Given the description of an element on the screen output the (x, y) to click on. 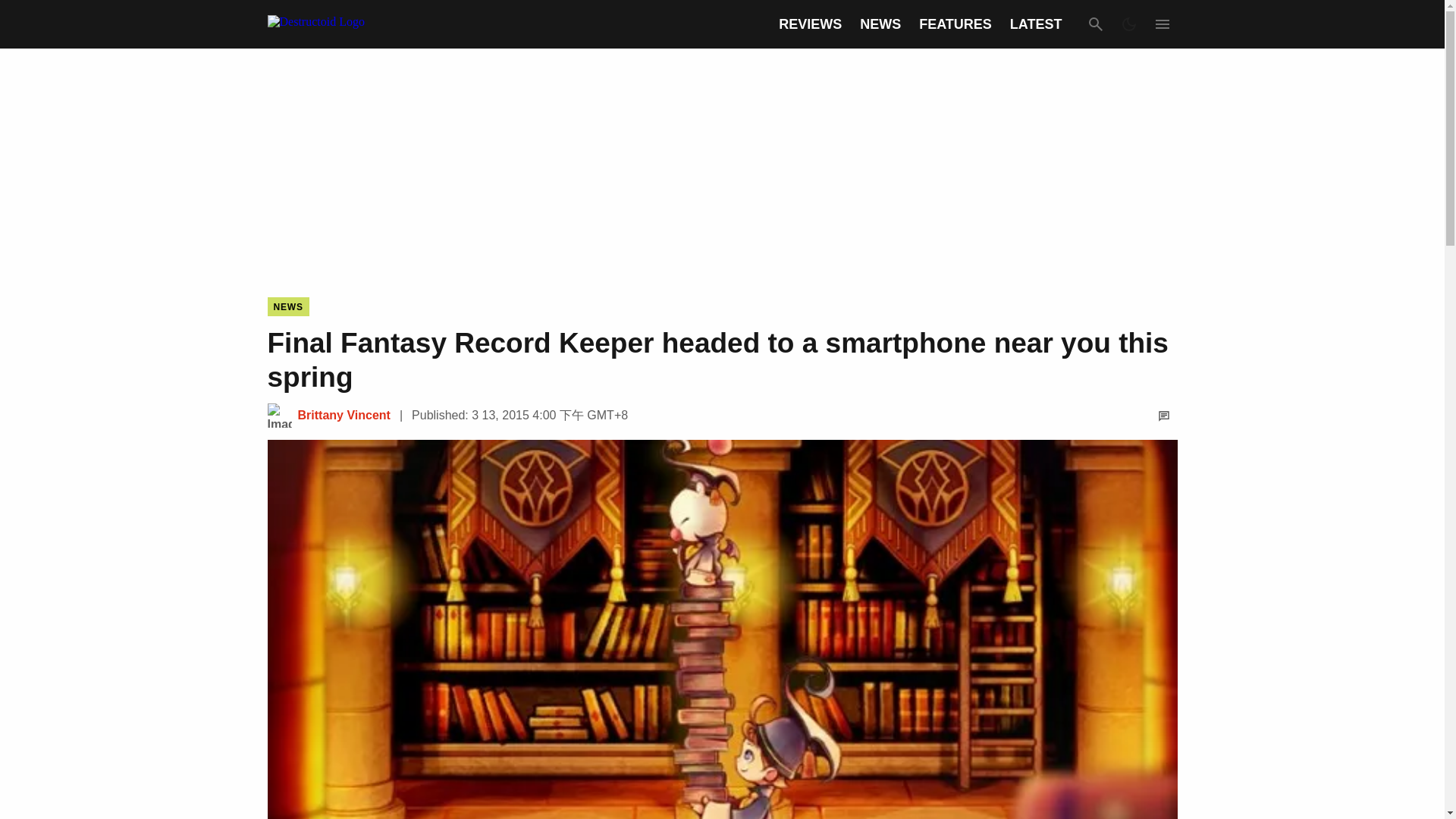
Dark Mode (1127, 24)
FEATURES (954, 23)
Search (1094, 24)
NEWS (287, 306)
REVIEWS (809, 23)
Expand Menu (1161, 24)
NEWS (880, 23)
LATEST (1036, 23)
